Given the description of an element on the screen output the (x, y) to click on. 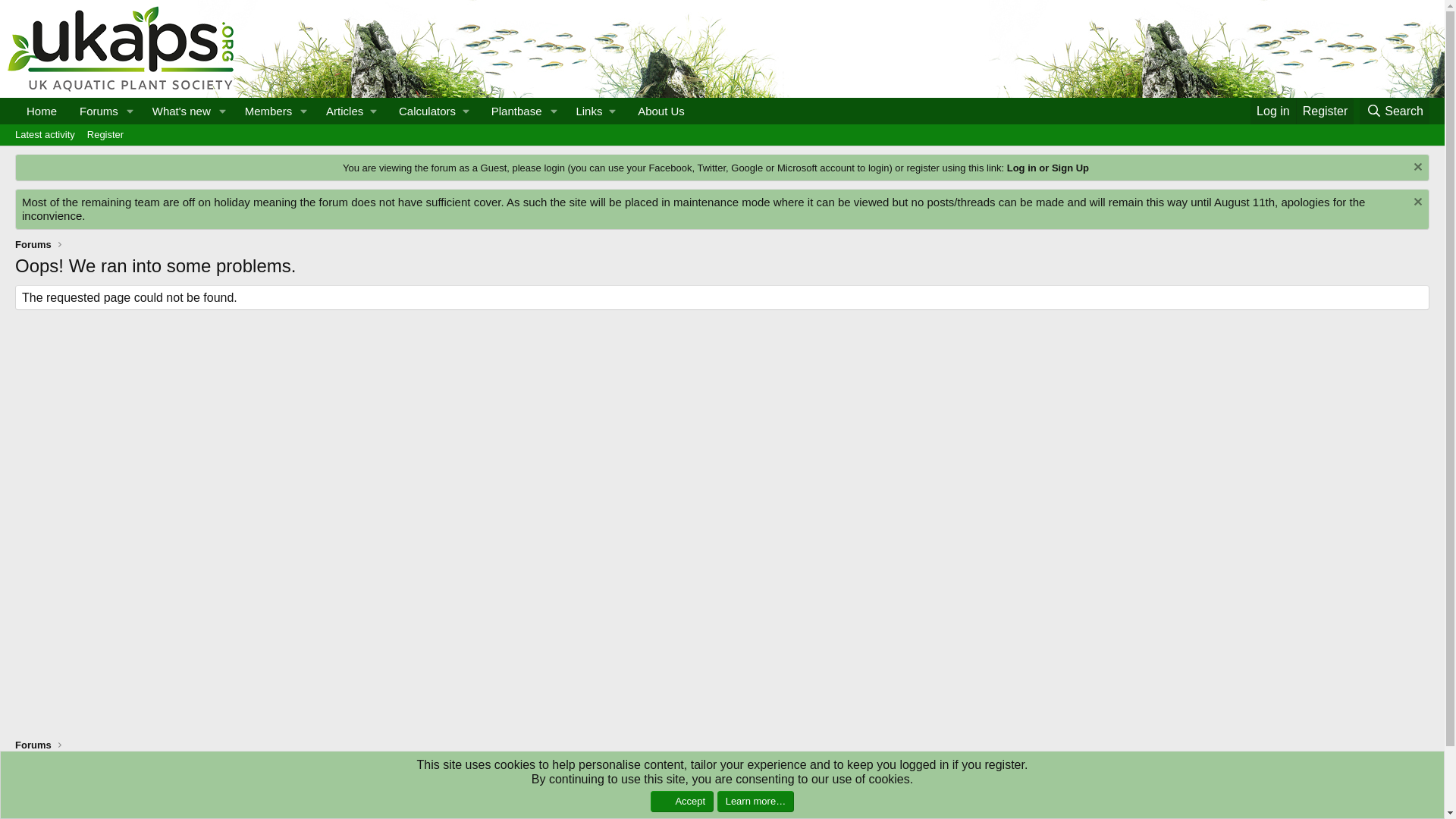
Calculators (433, 111)
Articles (350, 111)
Members (721, 151)
Home (263, 111)
Forums (41, 111)
Search (93, 111)
What's new (1394, 110)
RSS (176, 111)
